Given the description of an element on the screen output the (x, y) to click on. 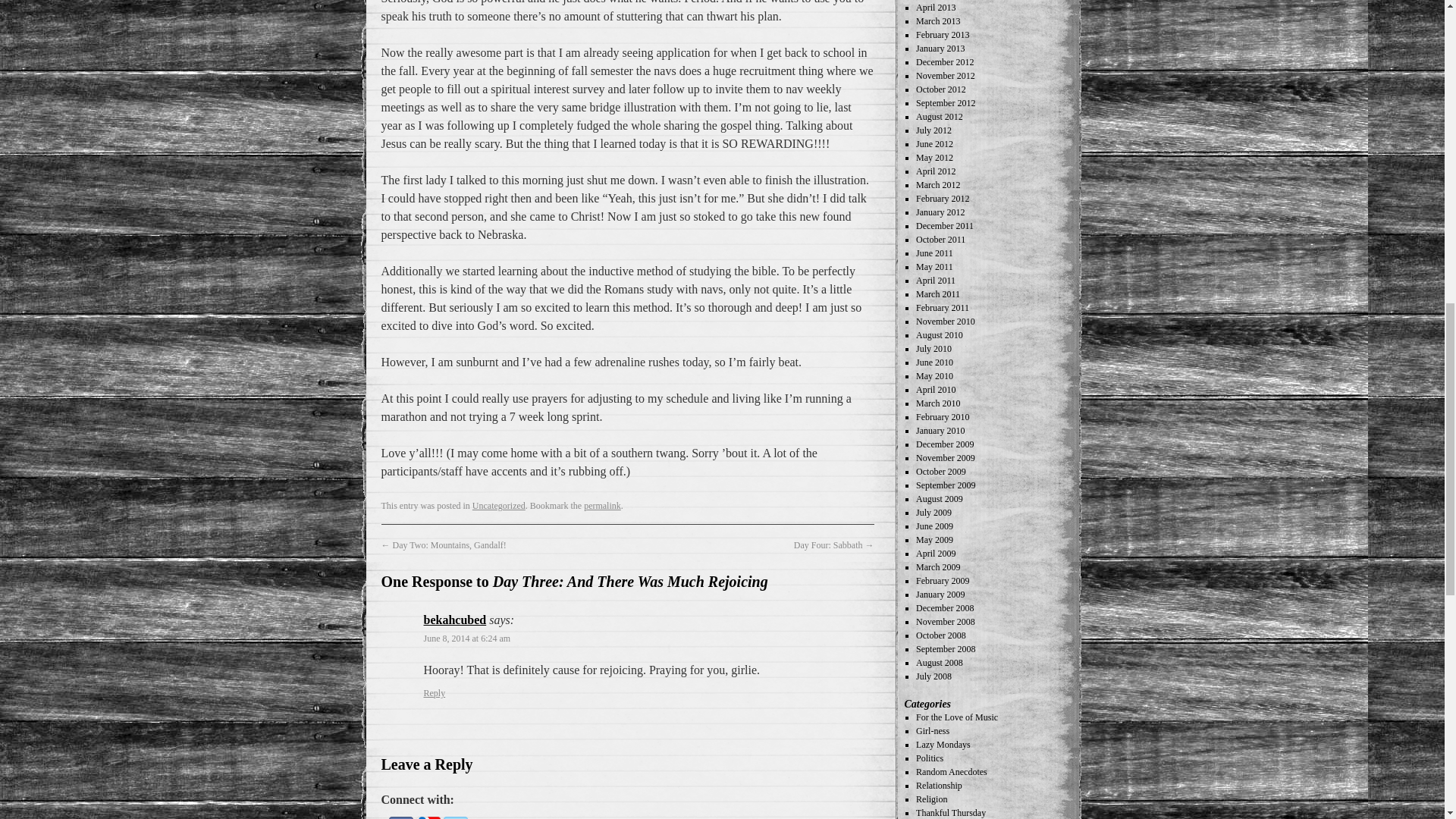
View all posts in Uncategorized (498, 505)
Google (426, 817)
View all posts filed under For the Love of Music (956, 716)
June 8, 2014 at 6:24 am (467, 638)
bekahcubed (454, 619)
Reply (434, 692)
Permalink to Day Three: And There Was Much Rejoicing (602, 505)
Twitter (454, 817)
Facebook (400, 817)
Uncategorized (498, 505)
permalink (602, 505)
